Given the description of an element on the screen output the (x, y) to click on. 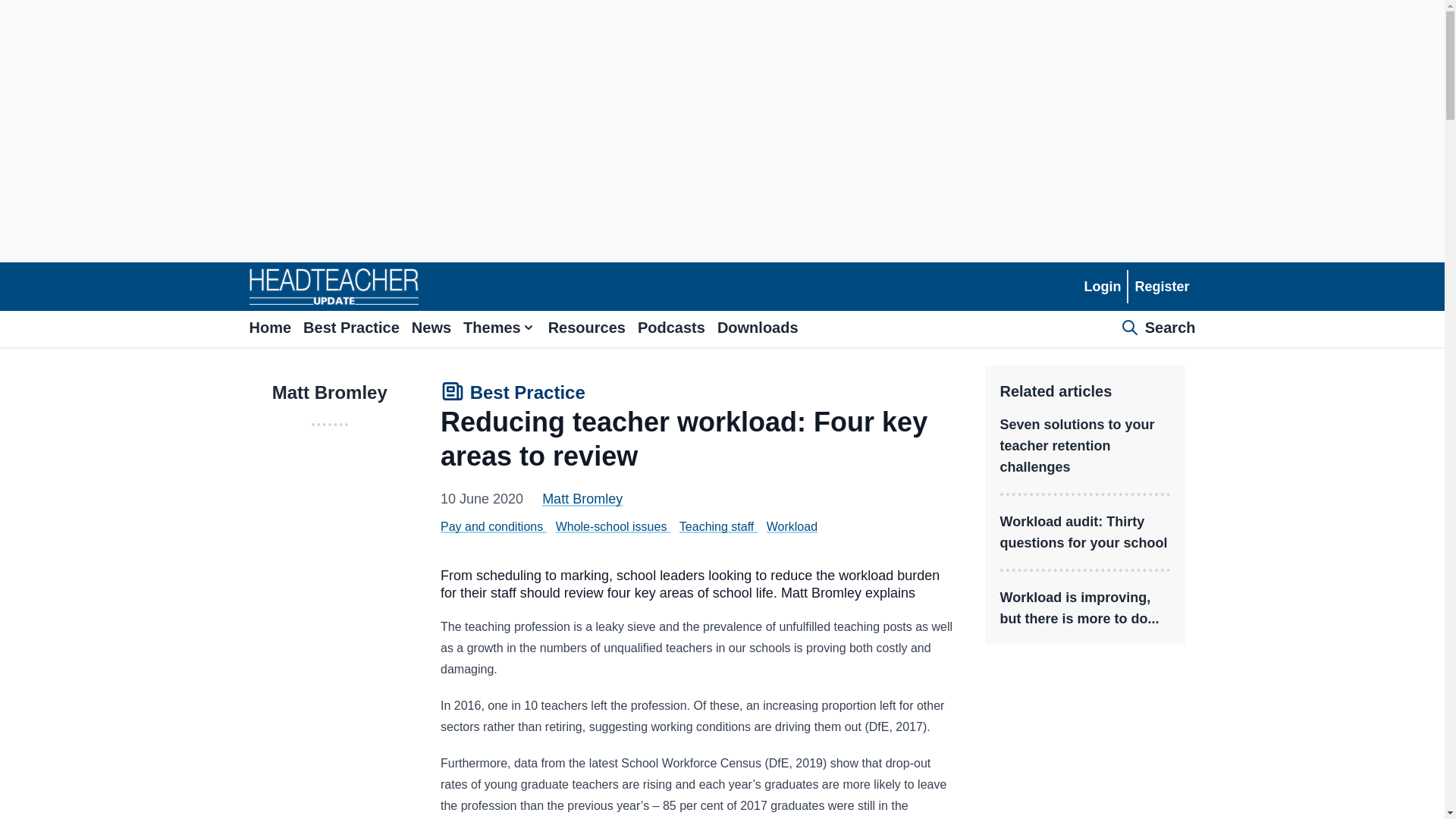
Search (1158, 329)
Register (1160, 286)
Teaching staff (716, 526)
Best Practice (513, 394)
Login (1101, 286)
News (431, 329)
Home (269, 329)
3rd party ad content (1085, 740)
Resources (587, 329)
